Given the description of an element on the screen output the (x, y) to click on. 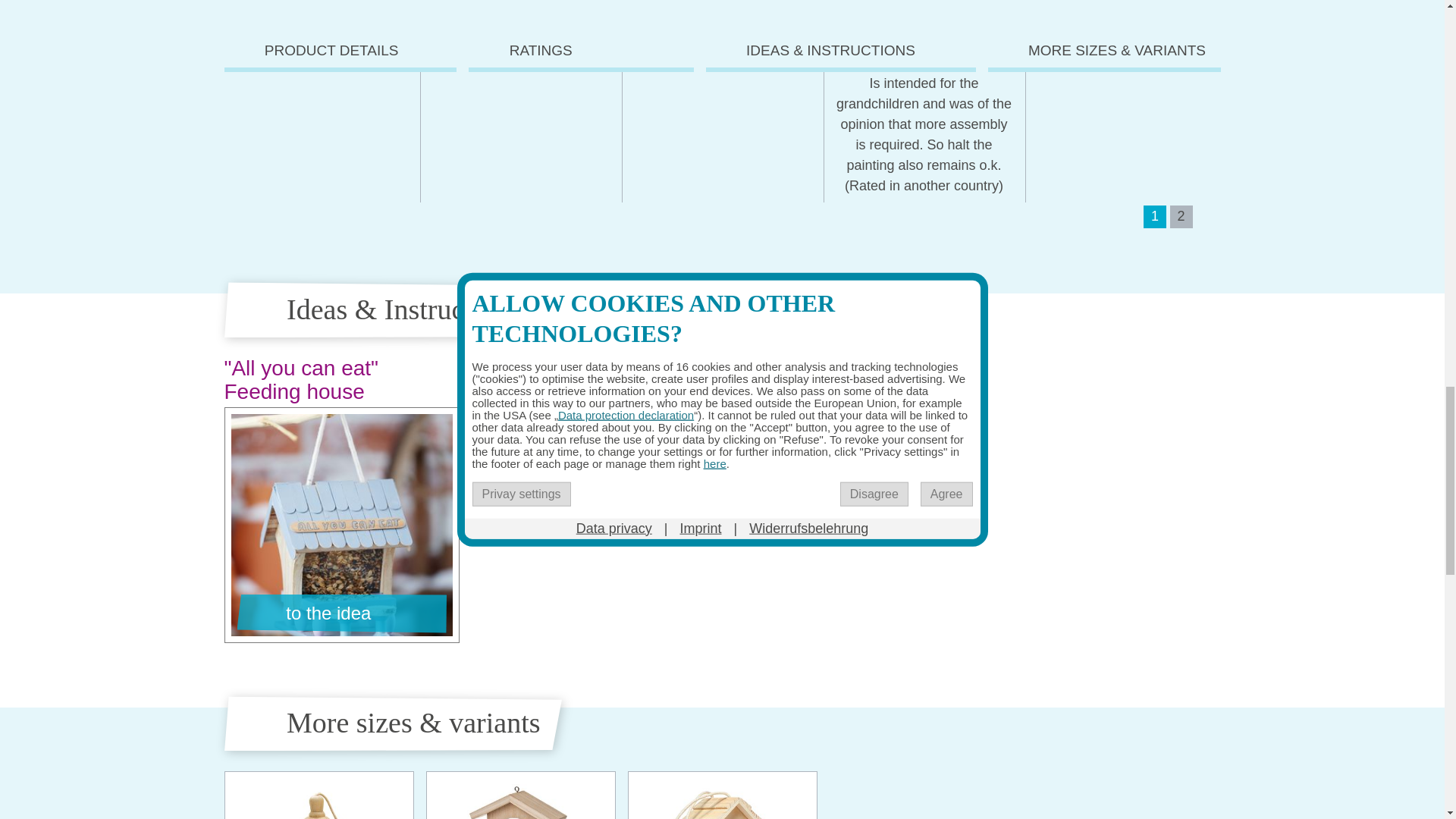
VBS Bird feeding house, 6 angular, wood (318, 795)
vorherige Seite (1127, 216)
VBS Bird feeding house "Birdy" (520, 795)
